Given the description of an element on the screen output the (x, y) to click on. 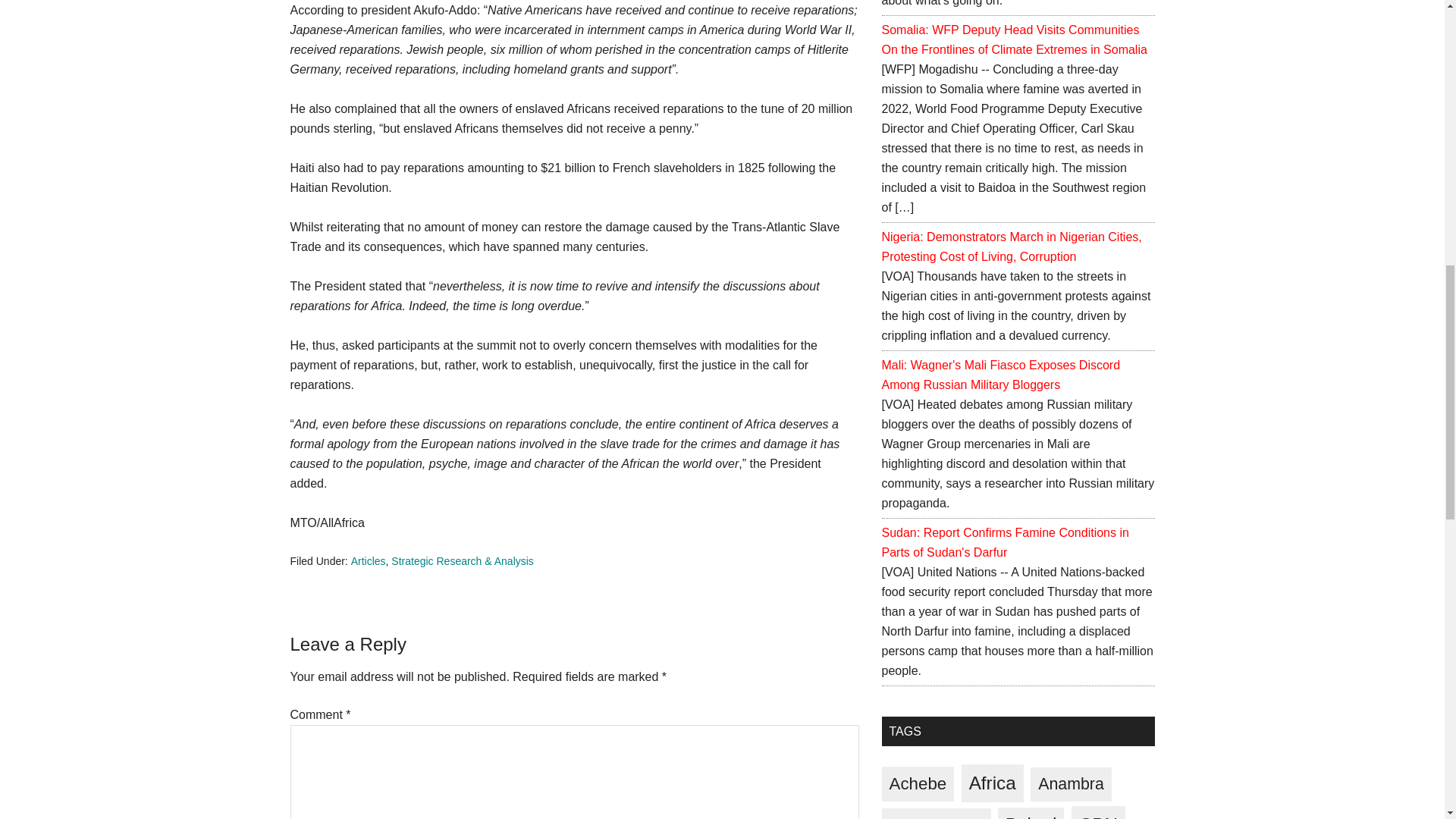
Articles (367, 561)
